Given the description of an element on the screen output the (x, y) to click on. 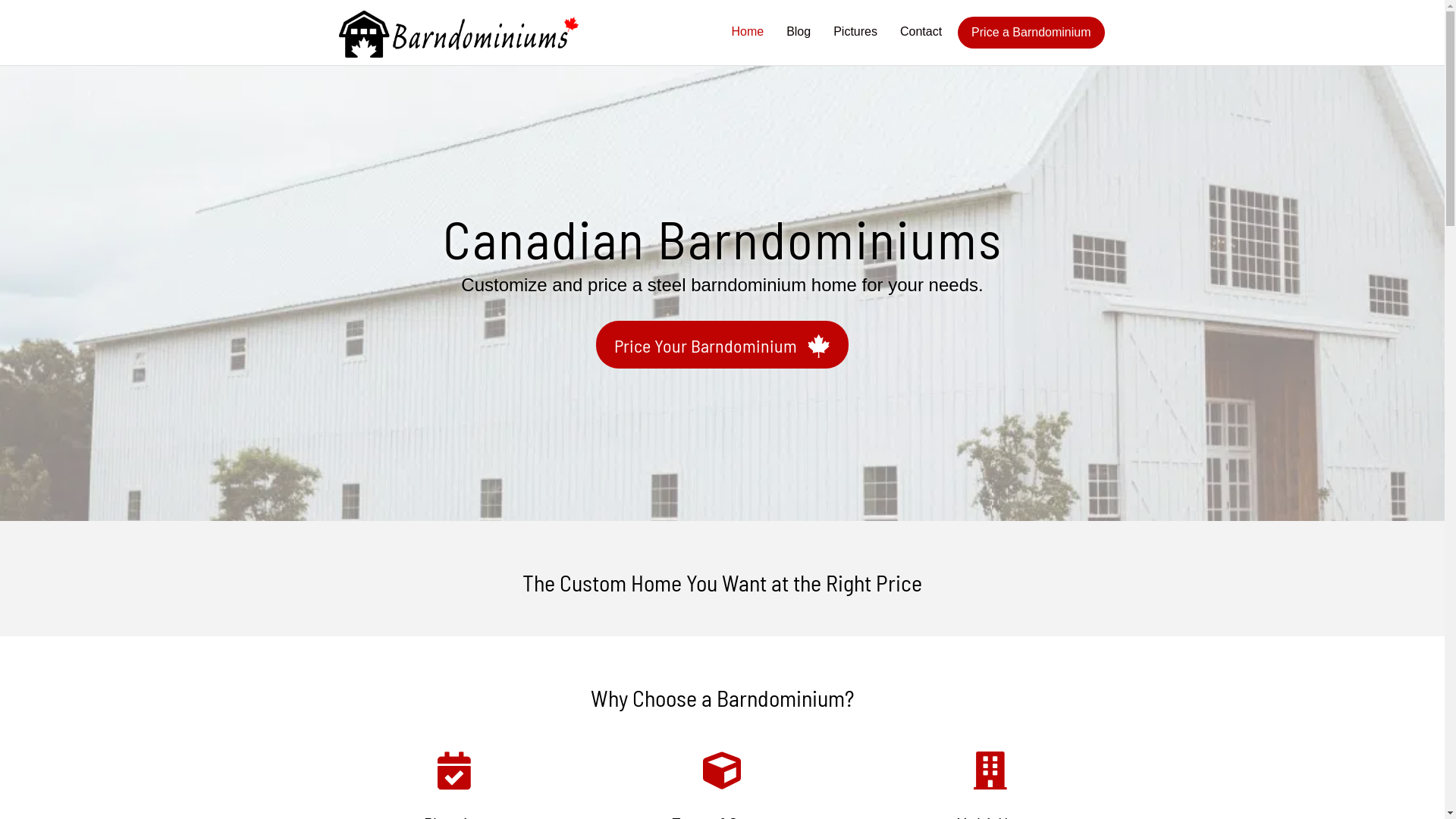
Home Element type: text (747, 31)
Blog Element type: text (798, 31)
Pictures Element type: text (855, 31)
Contact Element type: text (920, 31)
Price Your Barndominium Element type: text (722, 344)
Price a Barndominium Element type: text (1030, 32)
